Given the description of an element on the screen output the (x, y) to click on. 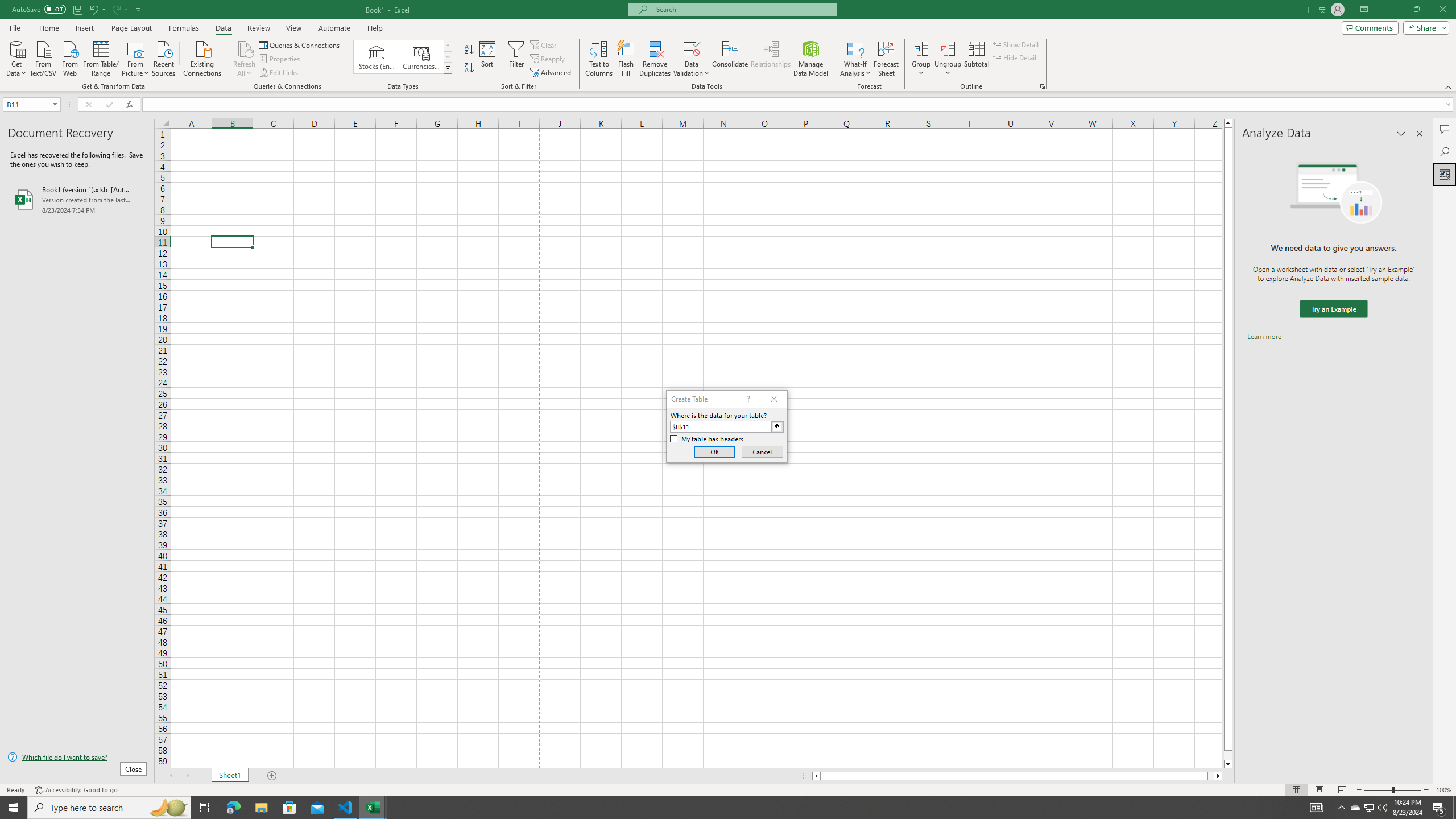
Learn more (1264, 336)
Save (77, 9)
Line up (1228, 122)
Microsoft search (742, 9)
Group... (921, 48)
What-If Analysis (855, 58)
Refresh All (244, 58)
Filter (515, 58)
Data Validation... (691, 48)
AutoSave (38, 9)
Ribbon Display Options (1364, 9)
Flash Fill (625, 58)
Class: MsoCommandBar (728, 45)
Analyze Data (1444, 173)
Formula Bar (799, 104)
